Given the description of an element on the screen output the (x, y) to click on. 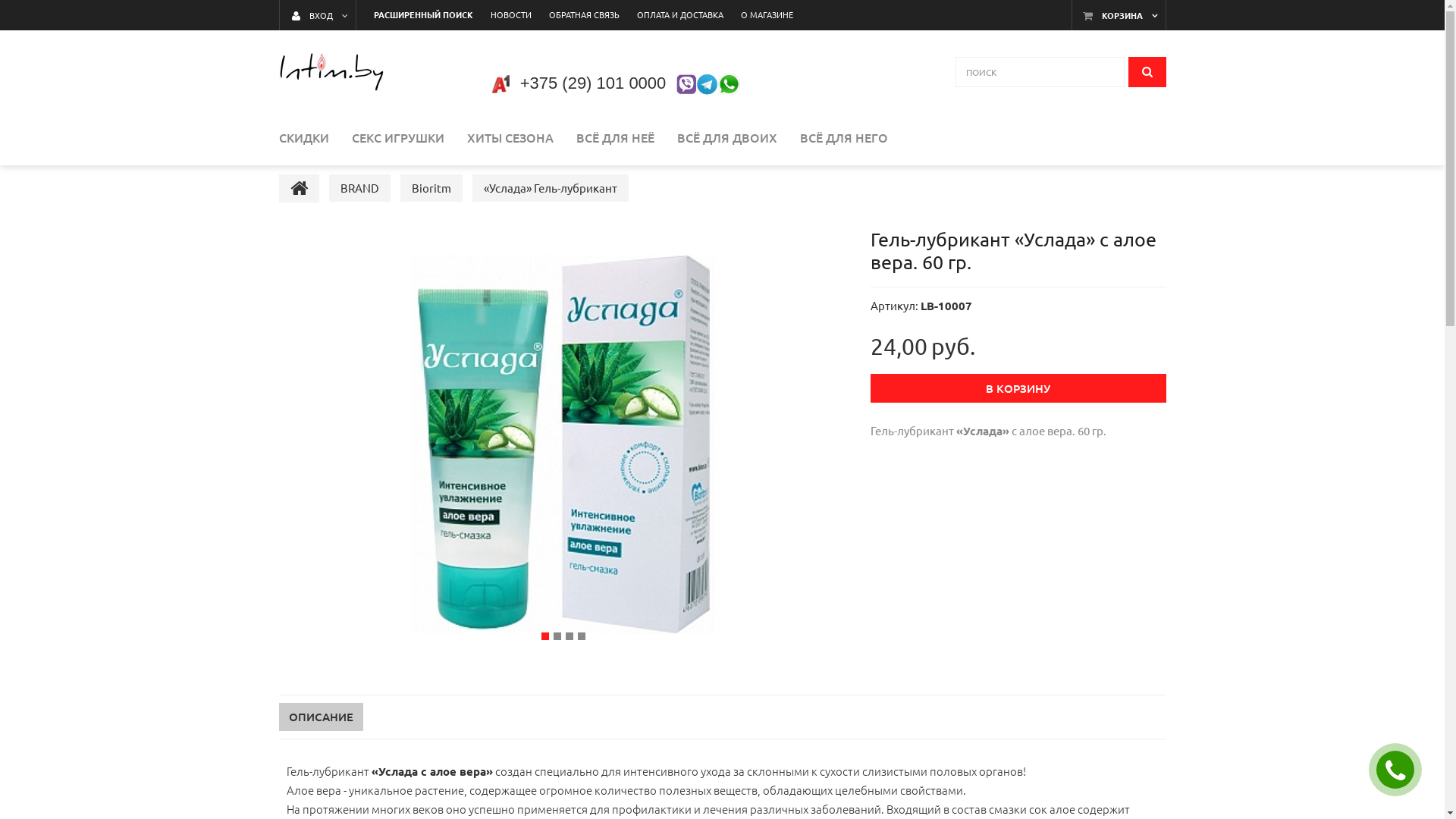
Bioritm Element type: text (431, 187)
BRAND Element type: text (359, 187)
